Given the description of an element on the screen output the (x, y) to click on. 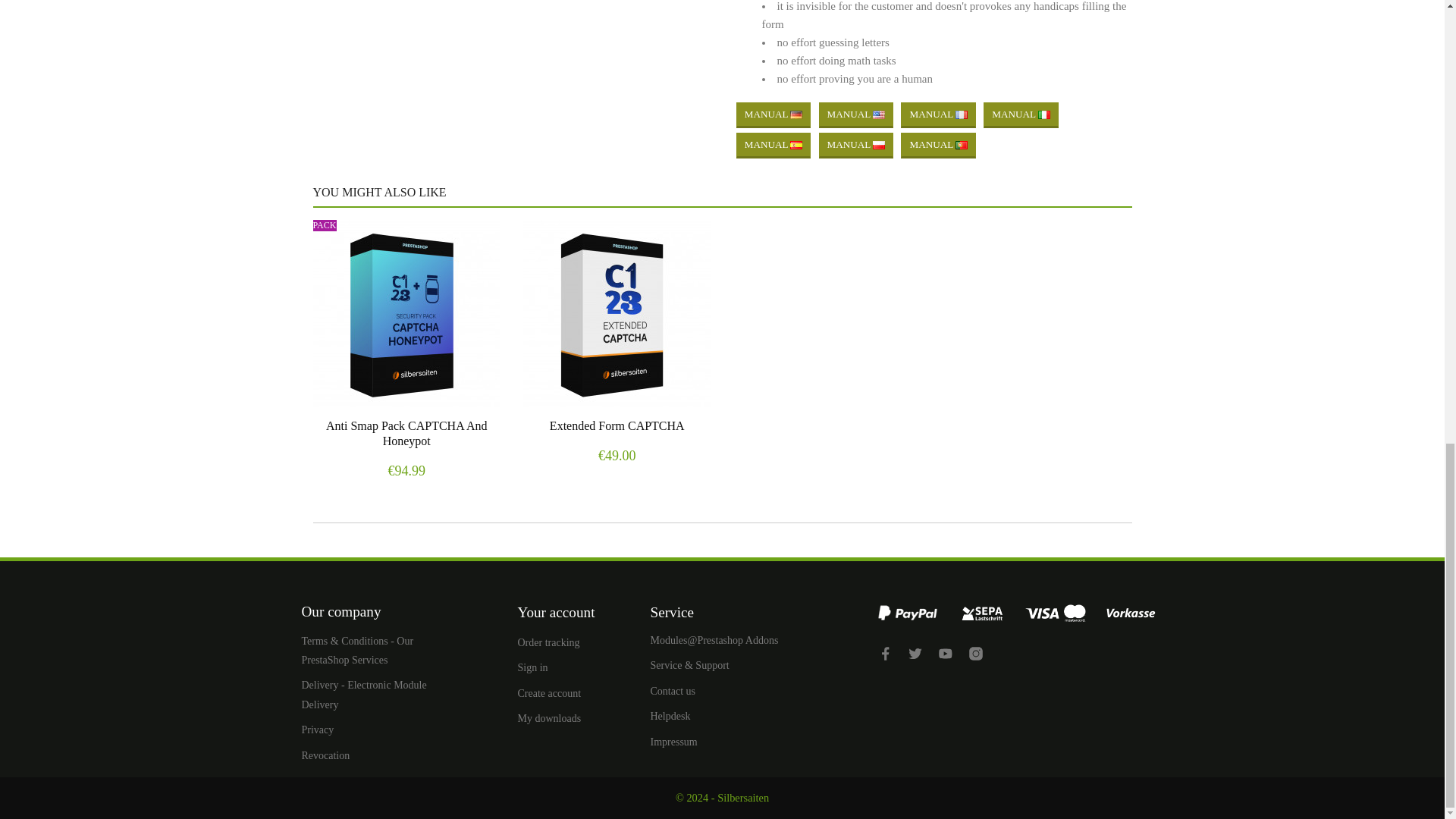
Create account (548, 693)
MANUAL (773, 114)
MANUAL (938, 145)
My downloads (548, 717)
MANUAL (855, 114)
MANUAL (938, 114)
Order tracking (547, 642)
Learn about our contract terms for PrestaShop services. (357, 650)
MANUAL (1021, 114)
Log in to your customer account (531, 667)
MANUAL (855, 145)
Read our policies and terms for PrestaShop modules. (317, 729)
MANUAL (773, 145)
